Given the description of an element on the screen output the (x, y) to click on. 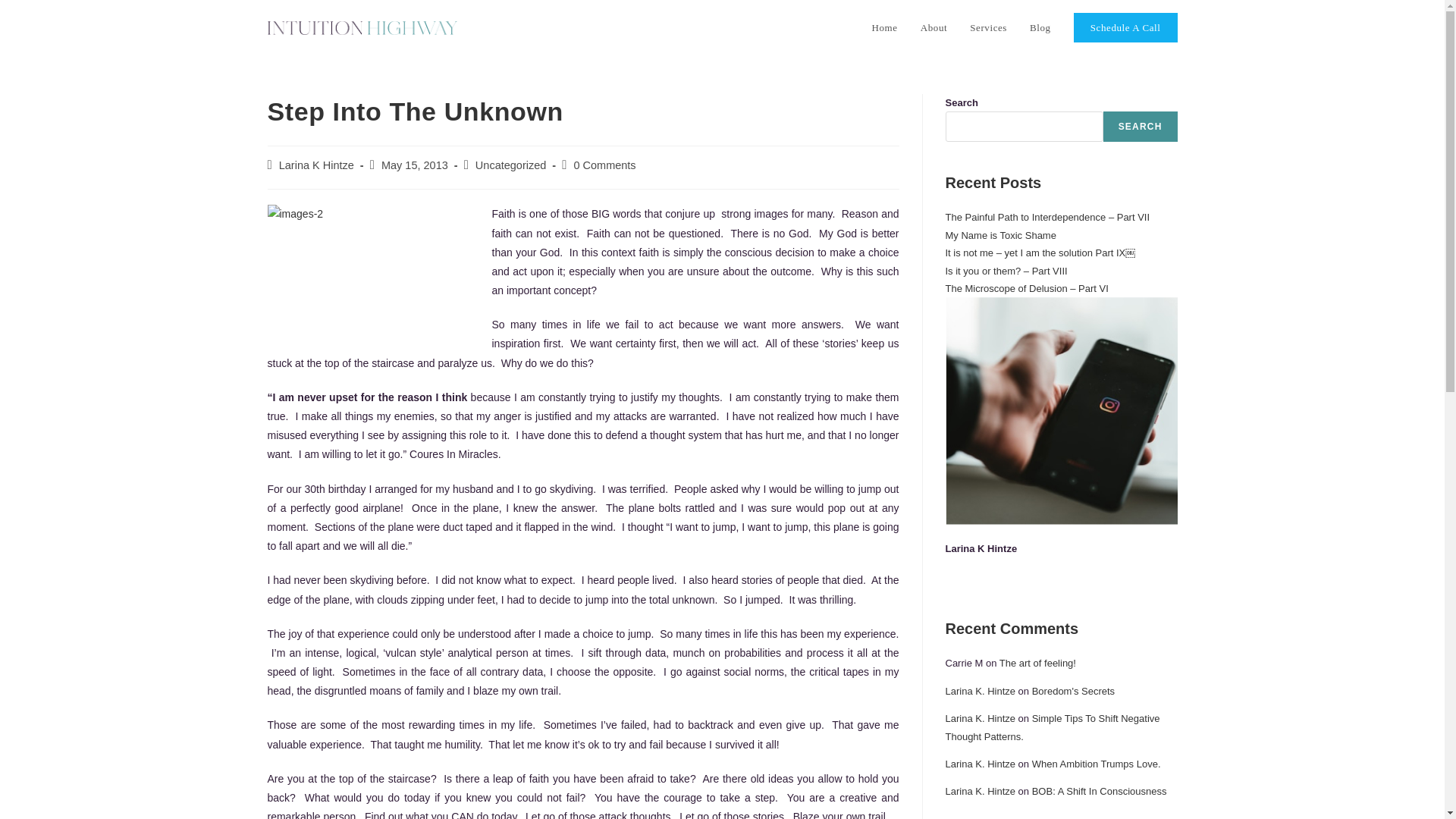
Larina K. Hintze (979, 717)
Larina K. Hintze (979, 763)
Simple Tips To Shift Negative Thought Patterns. (1051, 727)
My Name is Toxic Shame (999, 235)
SEARCH (1140, 126)
Services (987, 28)
When Ambition Trumps Love. (1096, 763)
0 Comments (603, 164)
The art of feeling! (1036, 663)
Larina K Hintze (316, 164)
BOB: A Shift In Consciousness (1099, 790)
Larina K. Hintze (979, 690)
Schedule A Call (1125, 28)
Uncategorized (511, 164)
About (933, 28)
